Given the description of an element on the screen output the (x, y) to click on. 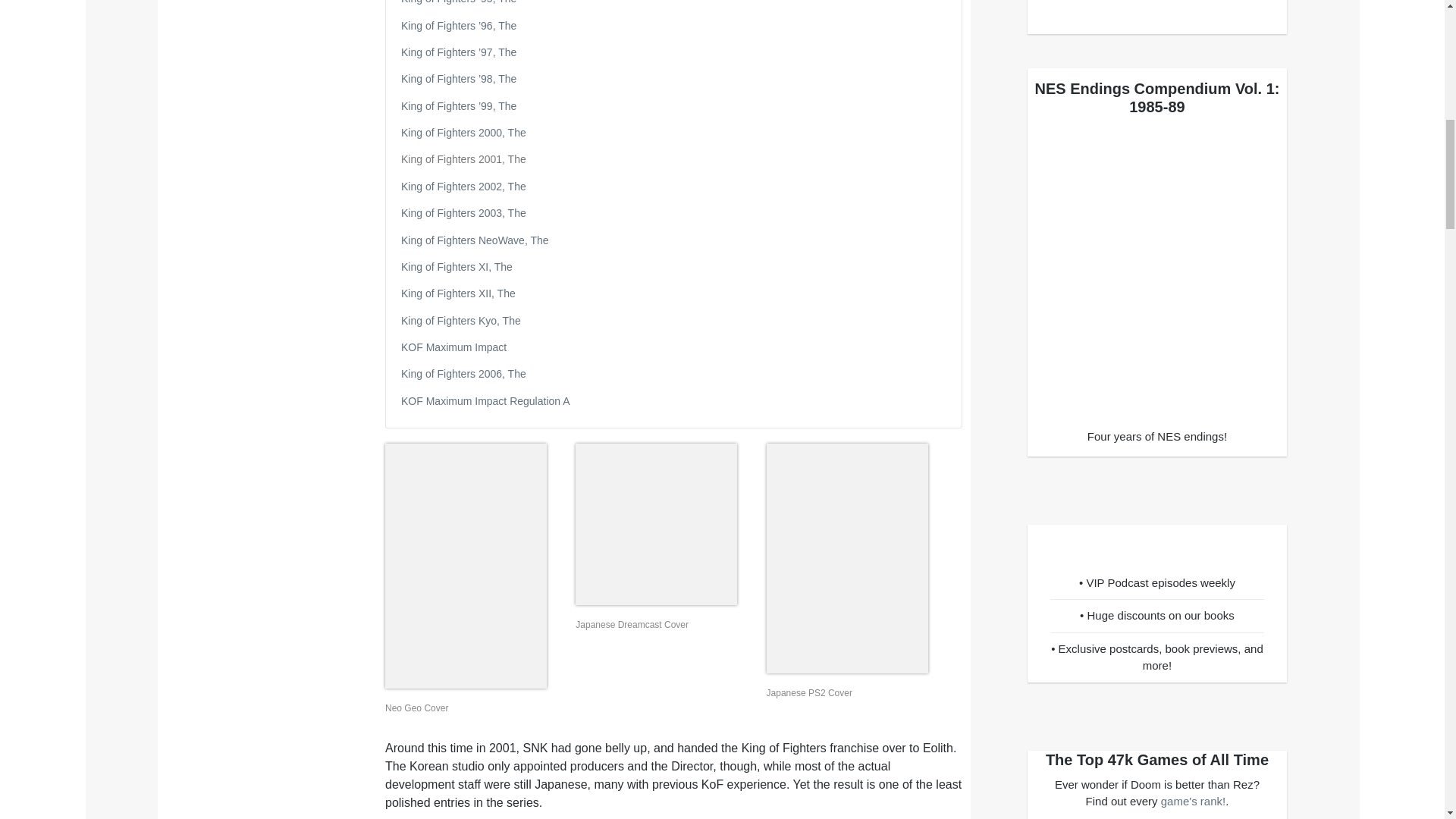
King of Fighters 2000, The (463, 132)
King of Fighters NeoWave, The (474, 240)
King of Fighters NeoWave, The (474, 240)
KOF Maximum Impact (453, 346)
King of Fighters XII, The (458, 293)
King of Fighters Kyo, The (461, 320)
King of Fighters 2003, The (463, 213)
King of Fighters XII, The (458, 293)
King of Fighters 2002, The (463, 186)
King of Fighters 2002, The (463, 186)
